Given the description of an element on the screen output the (x, y) to click on. 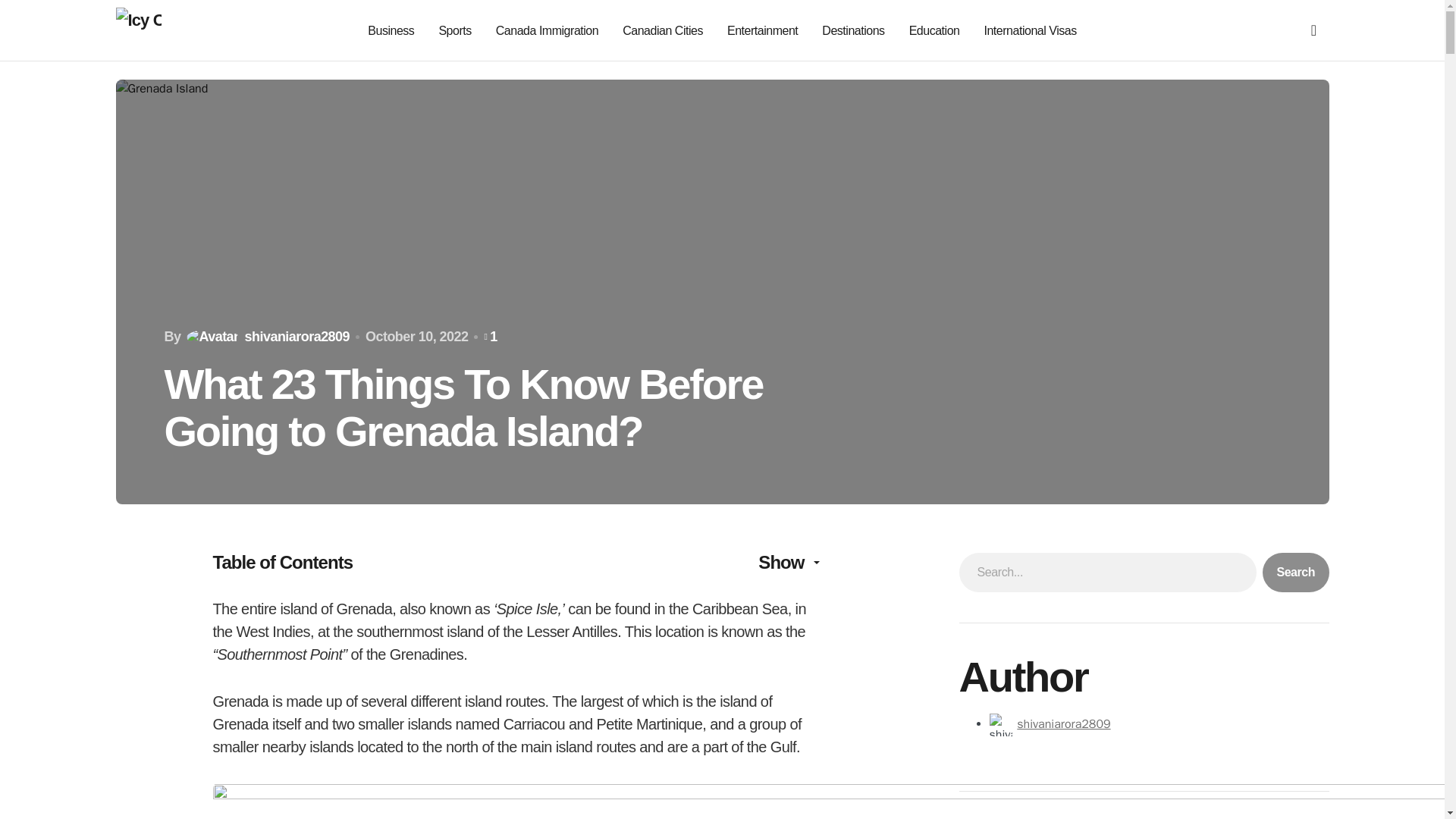
Education (933, 30)
Canadian Cities (663, 30)
Destinations (852, 30)
Canada Immigration (547, 30)
Business (390, 30)
Sports (454, 30)
International Visas (1029, 30)
Entertainment (761, 30)
shivaniarora2809 (1062, 724)
